Given the description of an element on the screen output the (x, y) to click on. 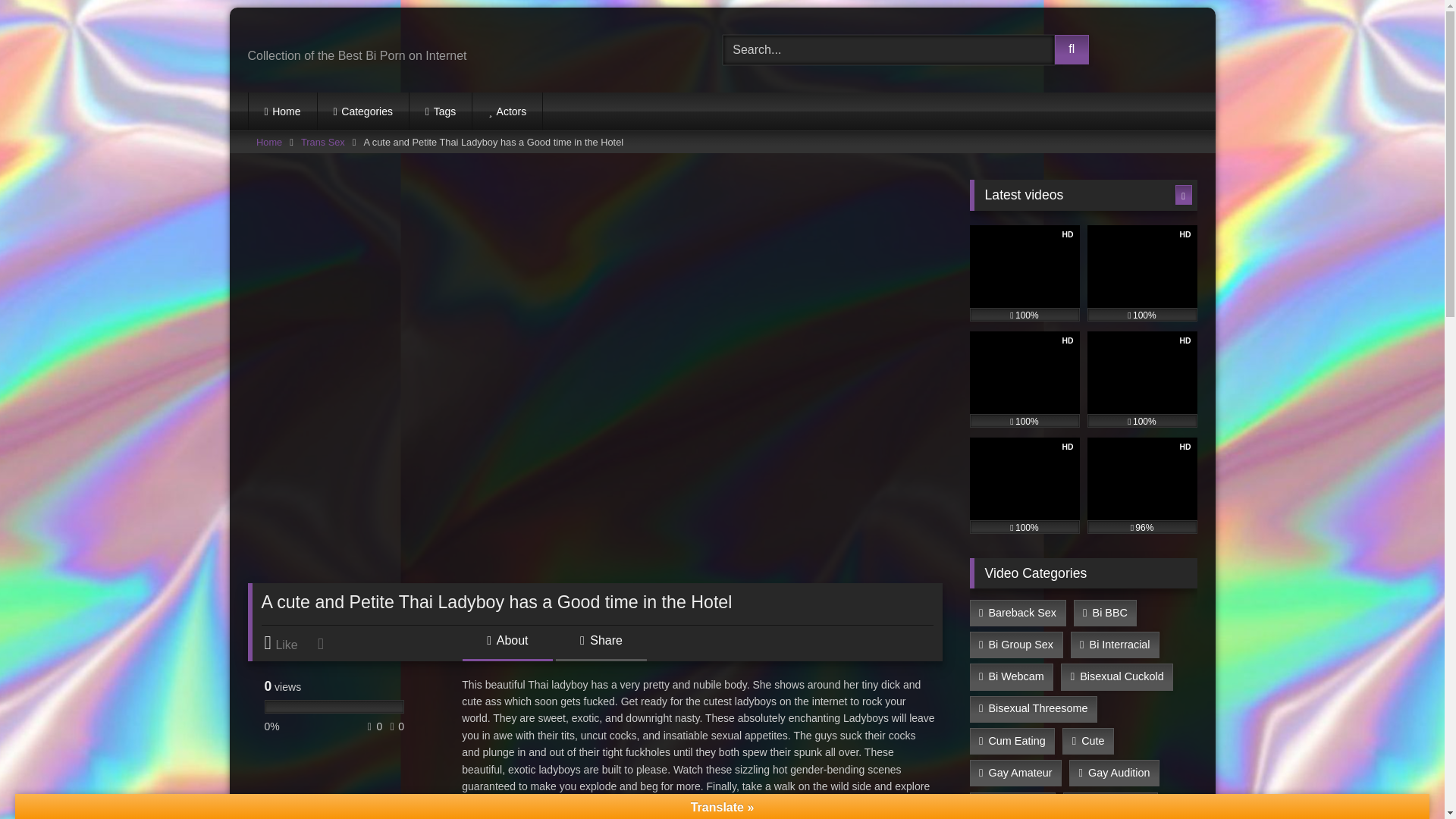
Actors (506, 111)
I like this (288, 642)
Search... (888, 50)
Categories (363, 111)
About (507, 645)
Like (288, 642)
Tags (440, 111)
Home (282, 111)
Share (601, 645)
